Given the description of an element on the screen output the (x, y) to click on. 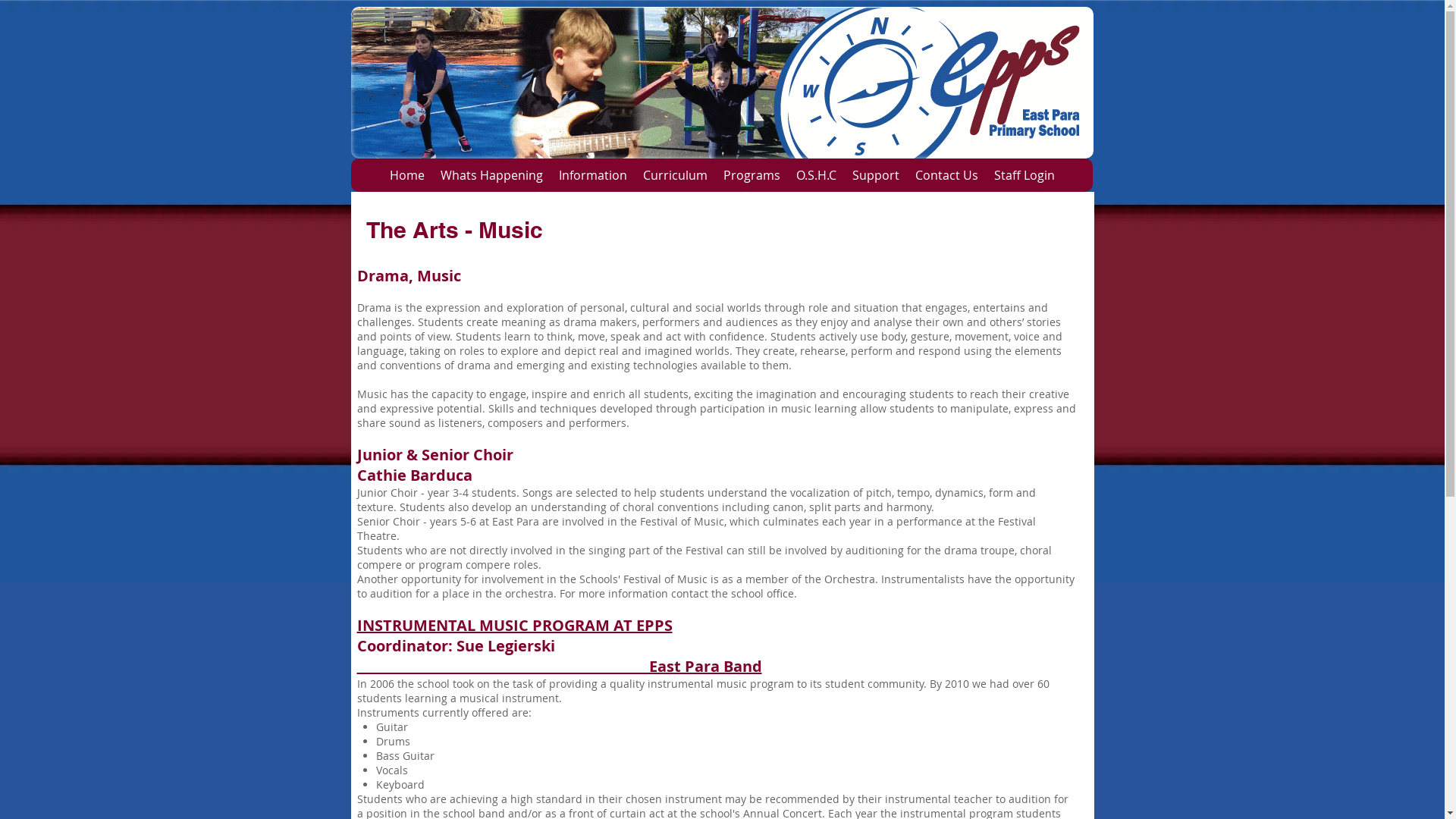
INSTRUMENTAL MUSIC PROGRAM AT EPPS Element type: text (513, 625)
Whats Happening Element type: text (491, 174)
Staff Login Element type: text (1023, 174)
Home Element type: text (405, 174)
O.S.H.C Element type: text (815, 174)
Contact Us Element type: text (945, 174)
